Given the description of an element on the screen output the (x, y) to click on. 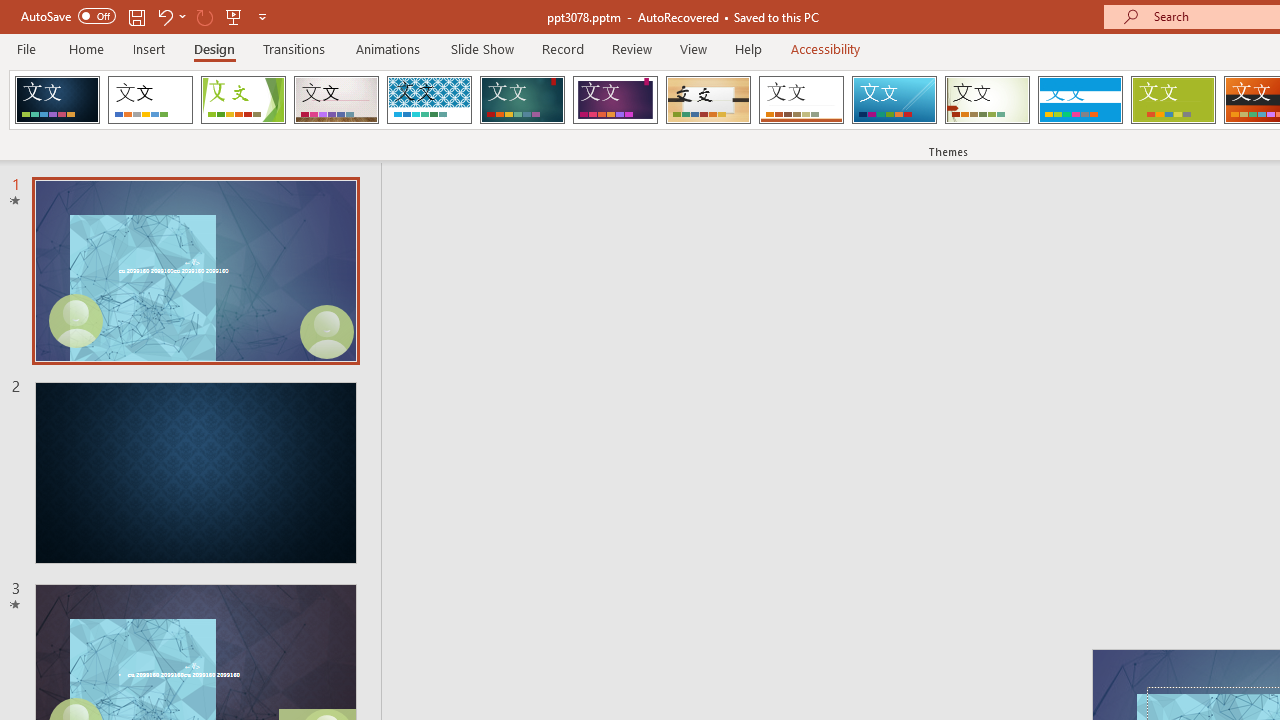
Integral (429, 100)
Banded (1080, 100)
Basis (1172, 100)
Retrospect (801, 100)
